Given the description of an element on the screen output the (x, y) to click on. 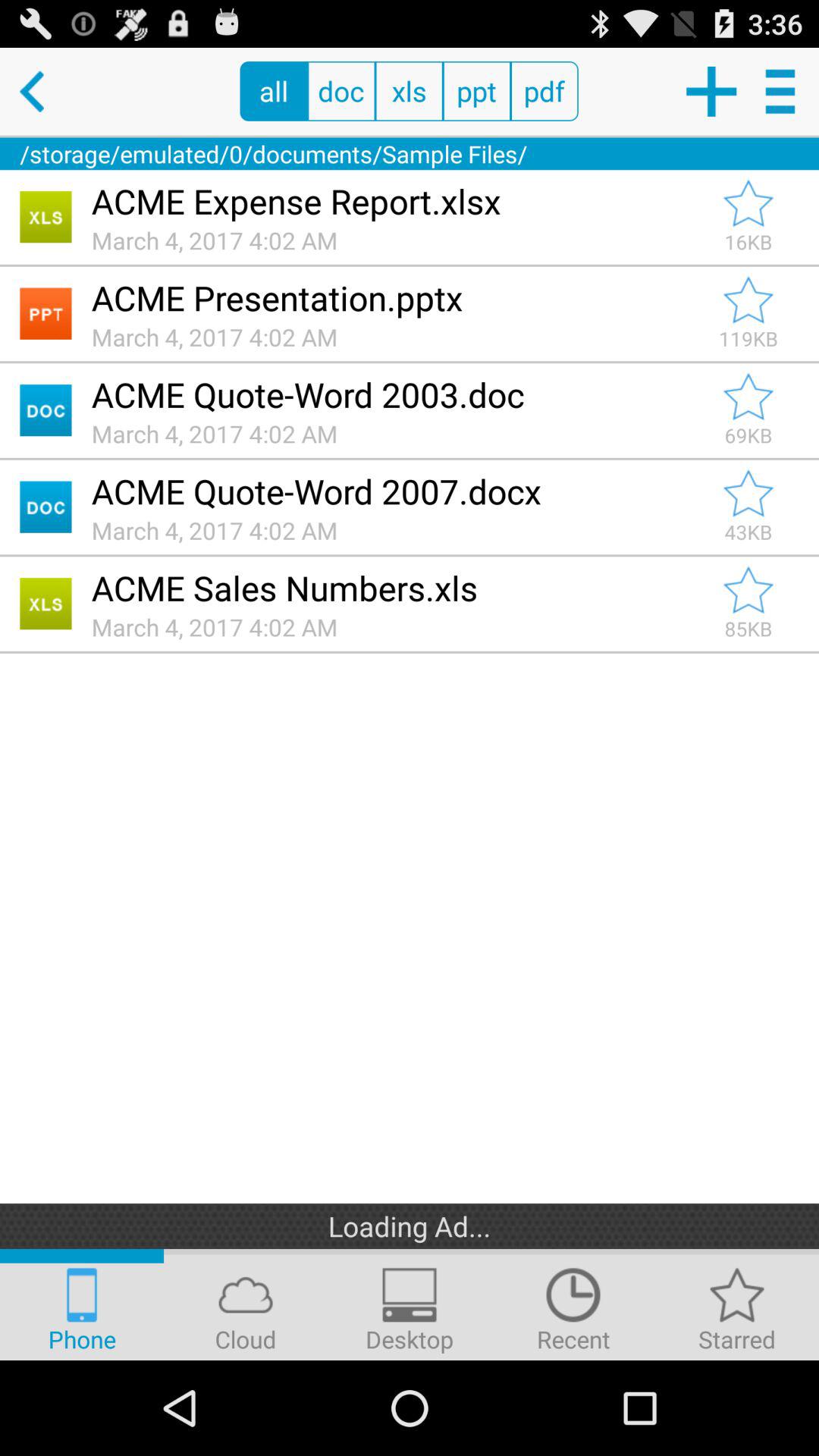
swipe to all item (273, 91)
